Given the description of an element on the screen output the (x, y) to click on. 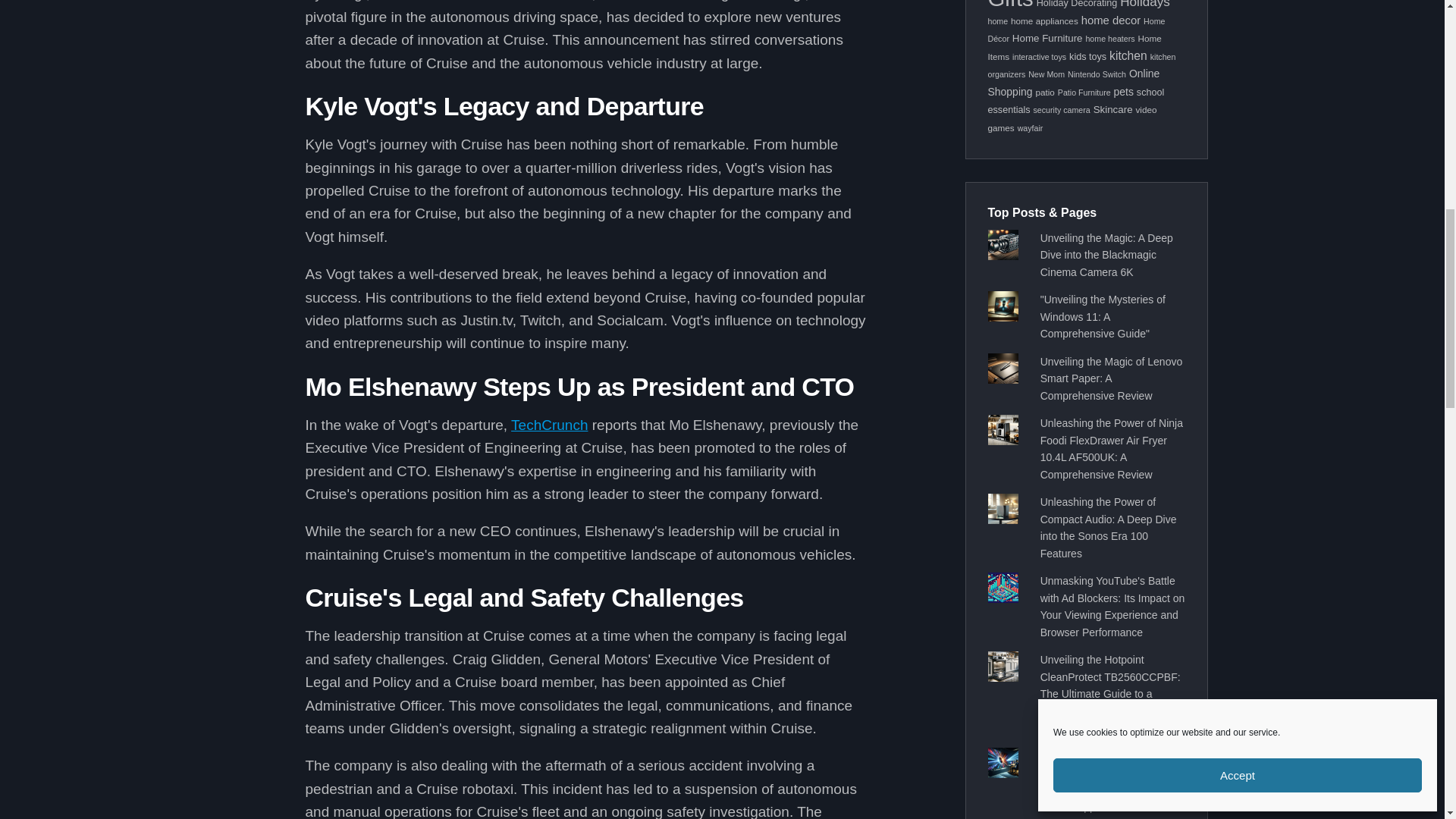
TechCrunch (549, 424)
